Given the description of an element on the screen output the (x, y) to click on. 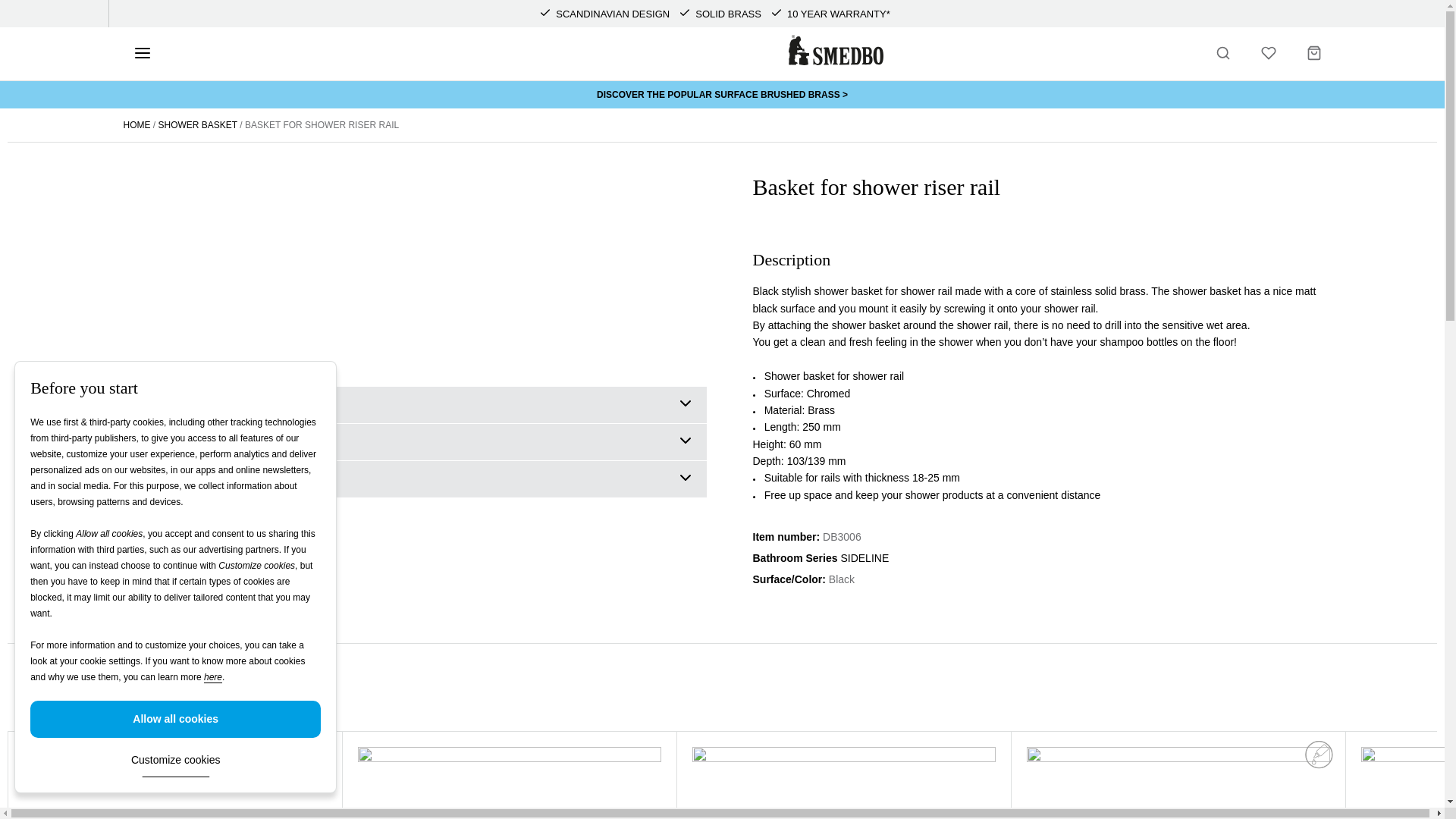
Smedbo (835, 50)
Smedbo (835, 61)
